Given the description of an element on the screen output the (x, y) to click on. 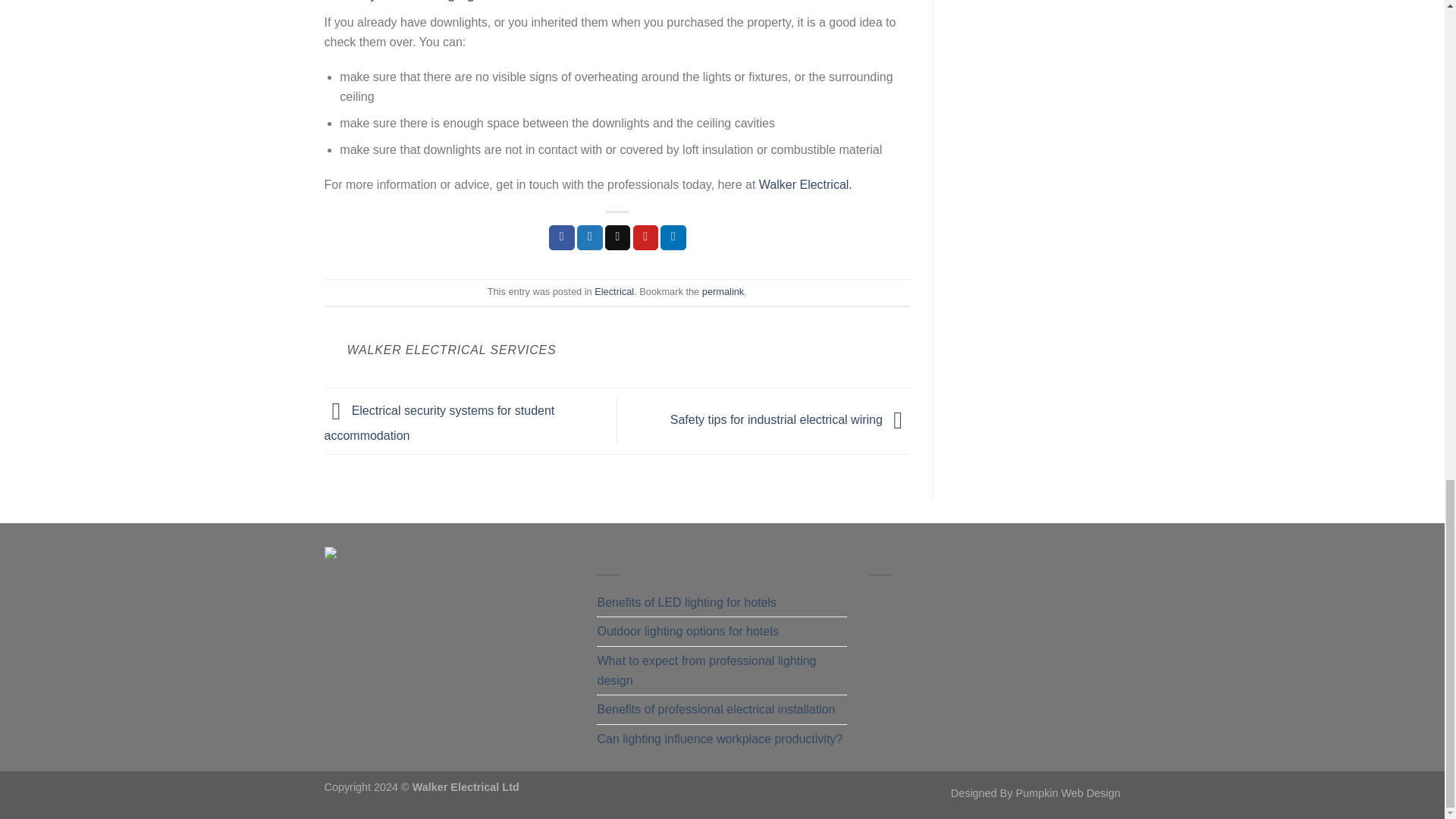
Share on Facebook (561, 237)
Pin on Pinterest (646, 237)
Share on Twitter (589, 237)
Email to a Friend (617, 237)
Walker Electrical. (804, 184)
Share on LinkedIn (673, 237)
Electrical (613, 291)
